Given the description of an element on the screen output the (x, y) to click on. 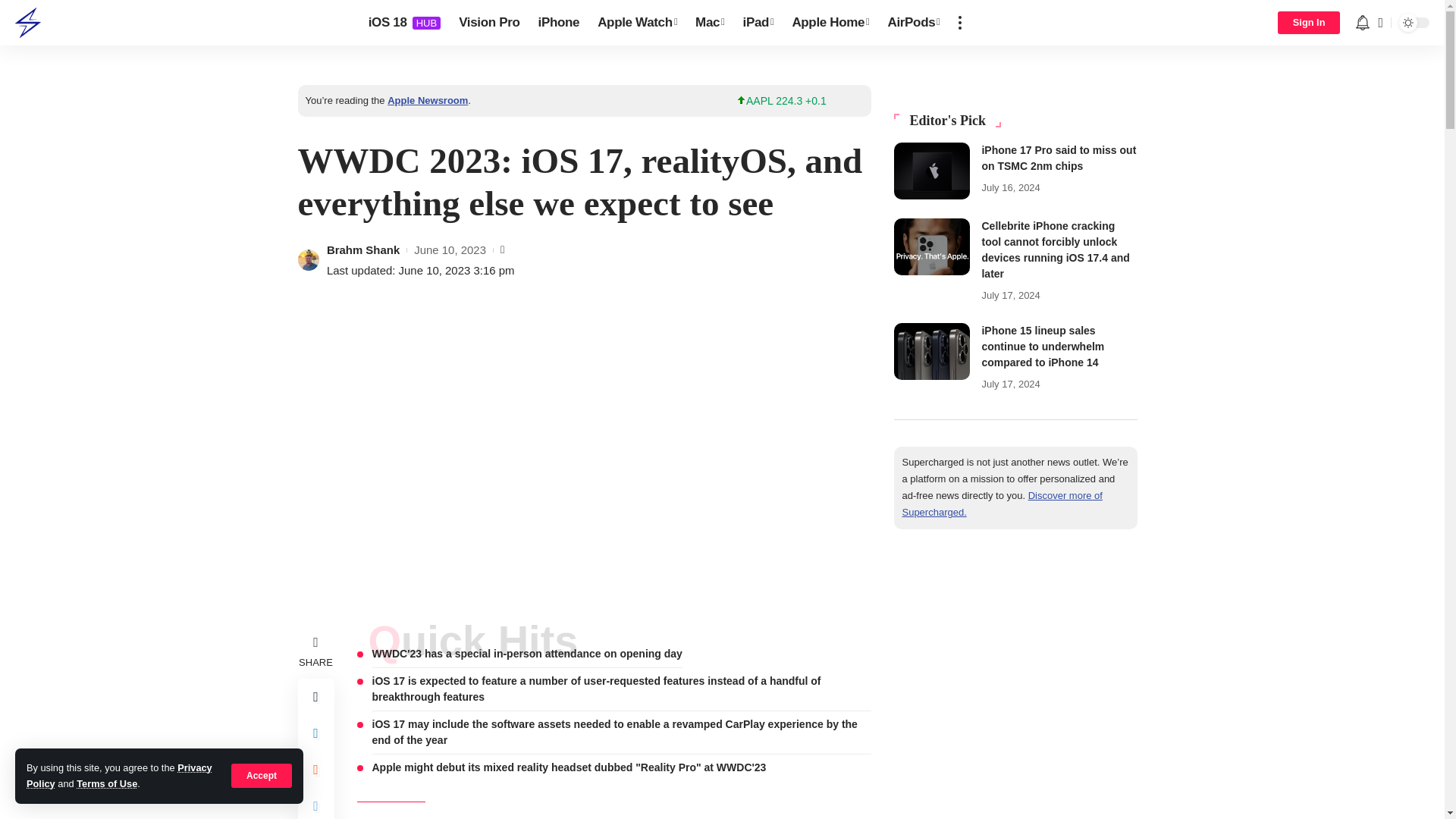
Vision Pro (404, 22)
Terms of Use (488, 22)
Accept (106, 783)
AirPods (261, 775)
Apple Watch (914, 22)
Mac (636, 22)
iPhone 17 Pro said to miss out on TSMC 2nm chips (709, 22)
Apple Home (931, 170)
iPad (830, 22)
iPhone (758, 22)
Privacy Policy (559, 22)
